Given the description of an element on the screen output the (x, y) to click on. 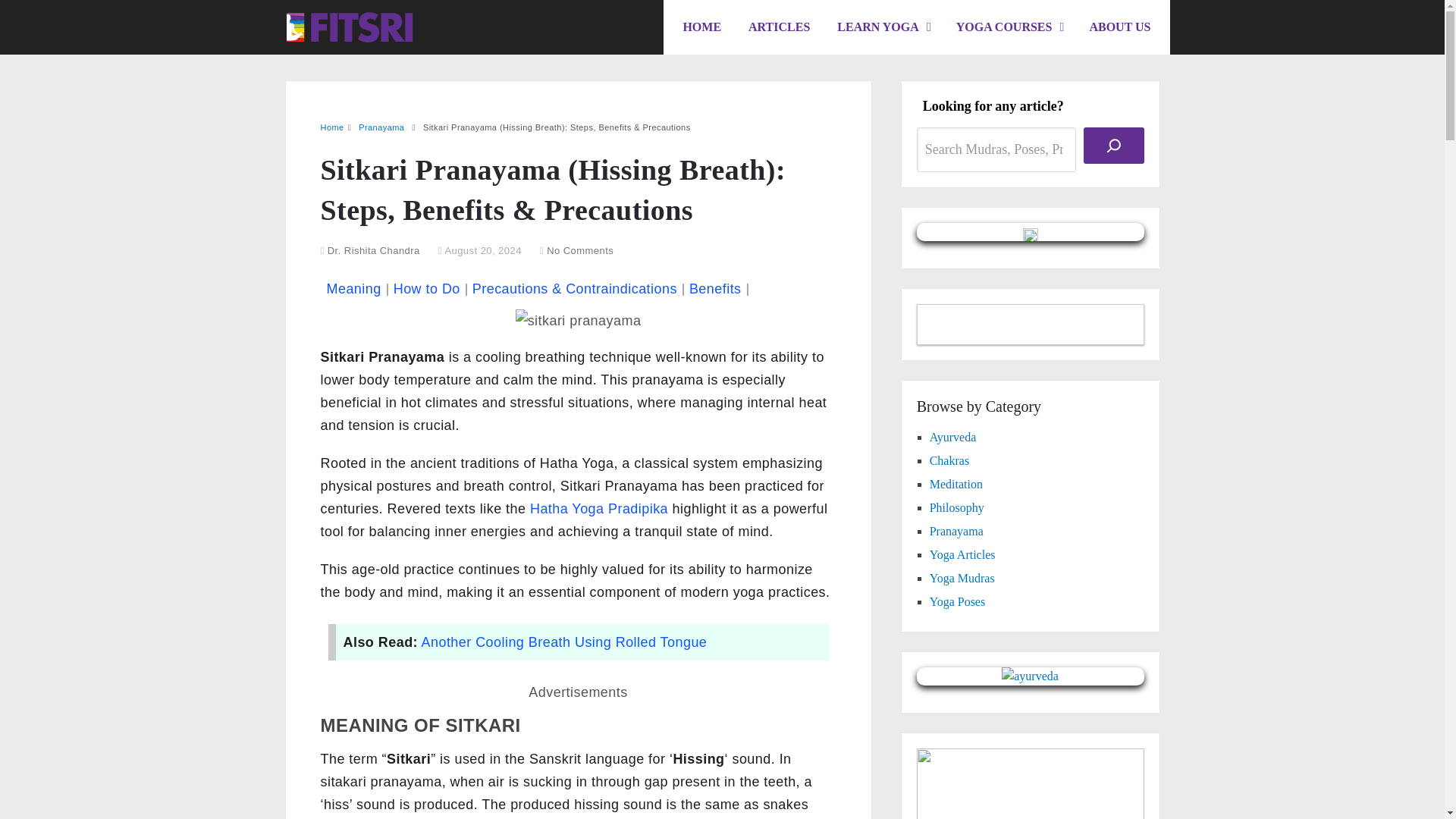
Home (331, 126)
YOGA COURSES (1009, 27)
HOME (701, 27)
No Comments (579, 250)
ABOUT US (1119, 27)
Dr. Rishita Chandra (373, 250)
ARTICLES (778, 27)
Posts by Dr. Rishita Chandra (373, 250)
Pranayama (381, 126)
LEARN YOGA (882, 27)
